Given the description of an element on the screen output the (x, y) to click on. 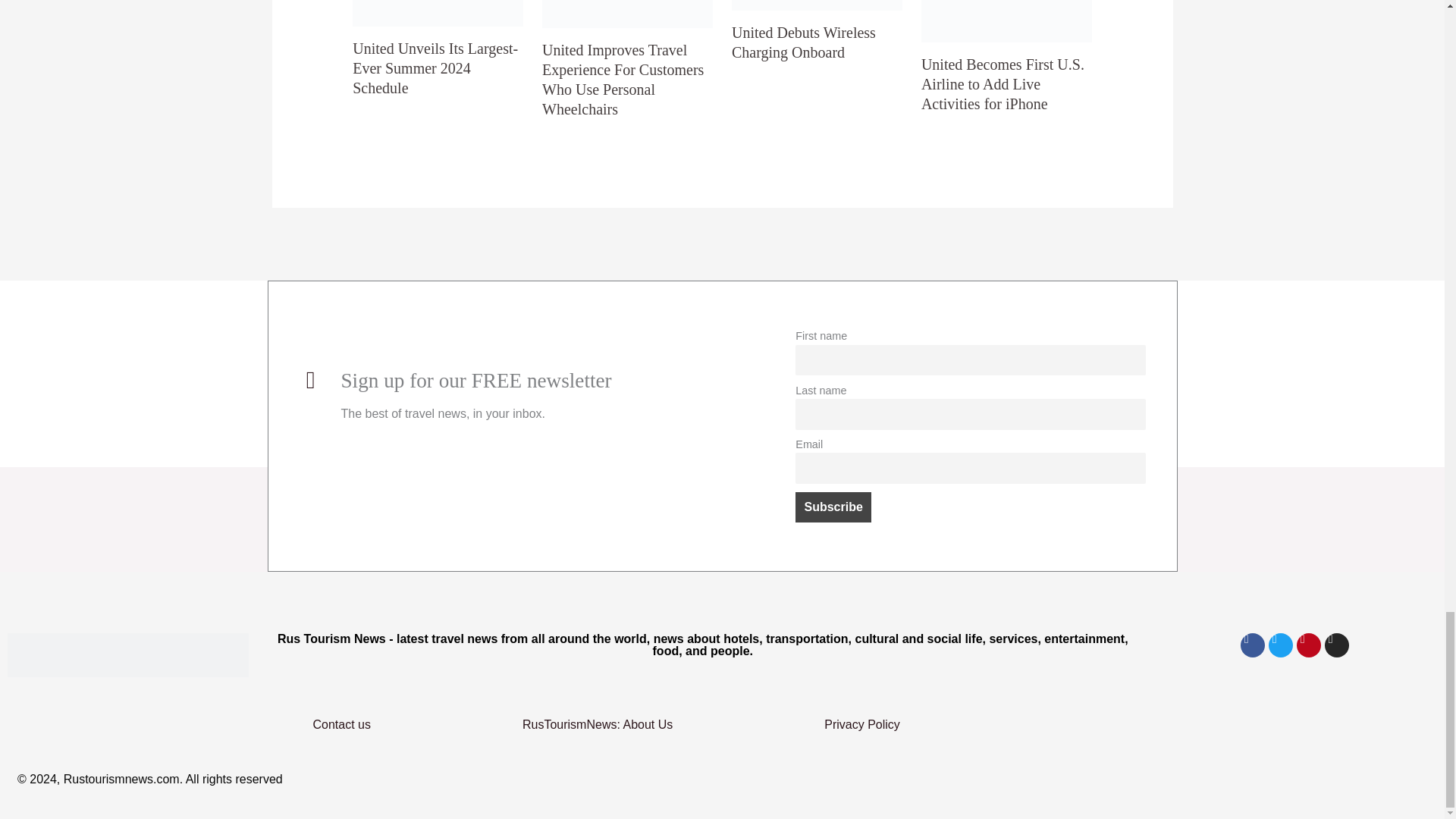
Subscribe (832, 507)
